Given the description of an element on the screen output the (x, y) to click on. 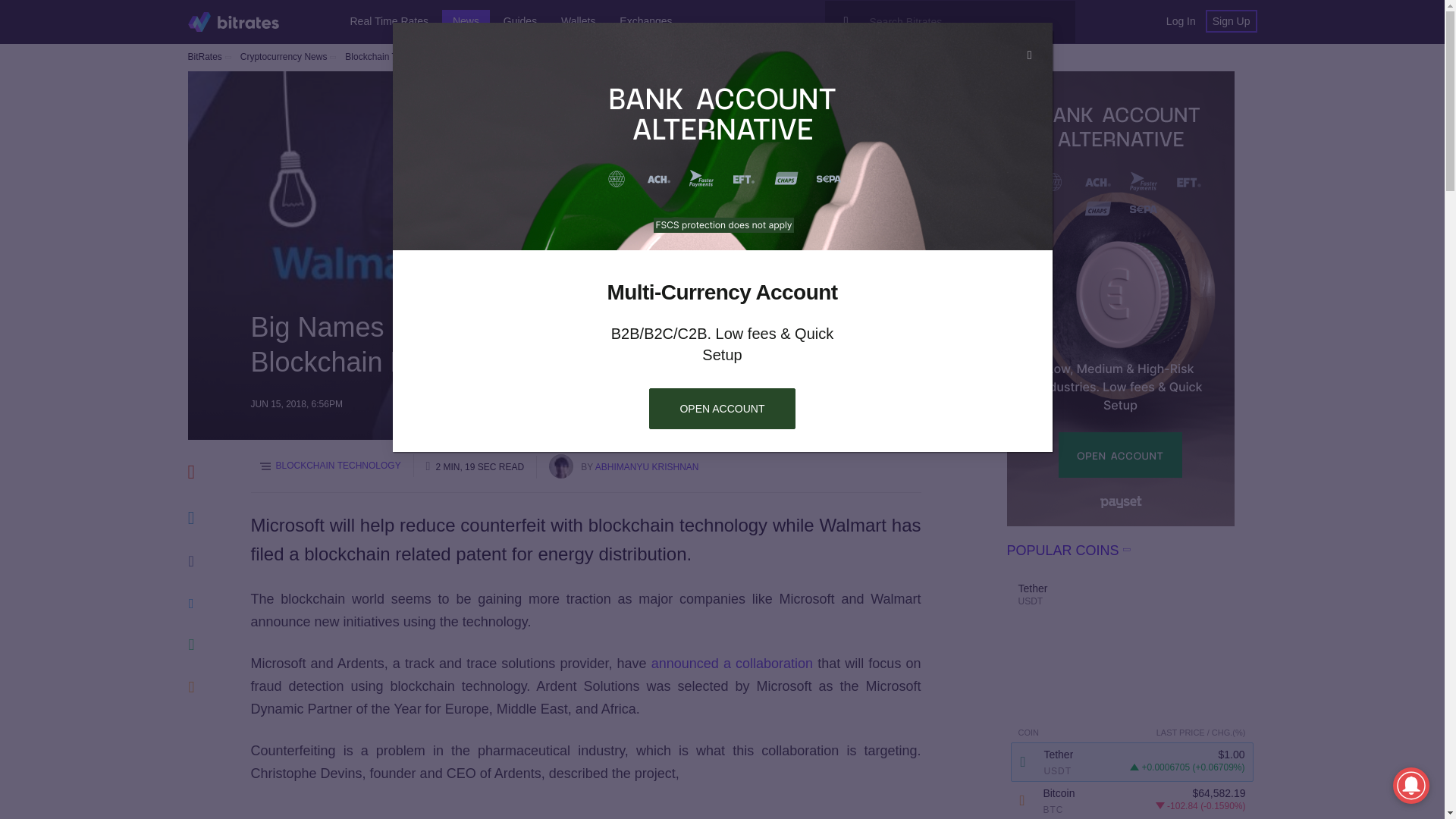
News (465, 20)
Guides (520, 20)
Login (1180, 20)
Real Time Rates (389, 20)
Wallets (577, 20)
Exchanges (645, 20)
Bitrates (233, 21)
